Given the description of an element on the screen output the (x, y) to click on. 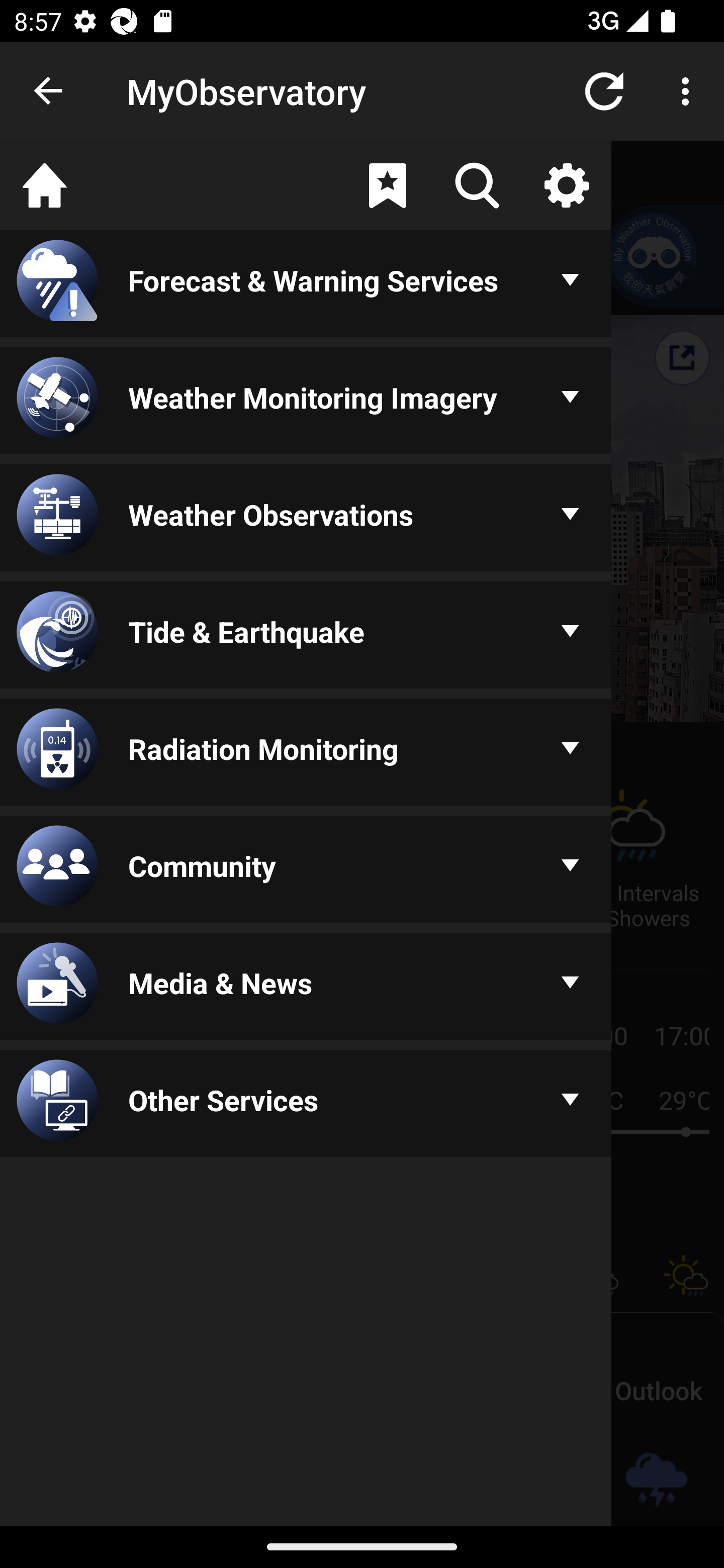
Navigate up (49, 91)
Refresh (604, 90)
More options (688, 90)
Homepage (44, 185)
Bookmark Manager (387, 185)
Search Unselected (477, 185)
Settings (566, 185)
Forecast & Warning Services Collapsed (305, 285)
Weather Monitoring Imagery Collapsed (305, 401)
Weather Observations Collapsed (305, 518)
Tide & Earthquake Collapsed (305, 636)
Radiation Monitoring Collapsed (305, 753)
Community Collapsed (305, 870)
Media & News Collapsed (305, 987)
Other Services Collapsed (305, 1104)
